Given the description of an element on the screen output the (x, y) to click on. 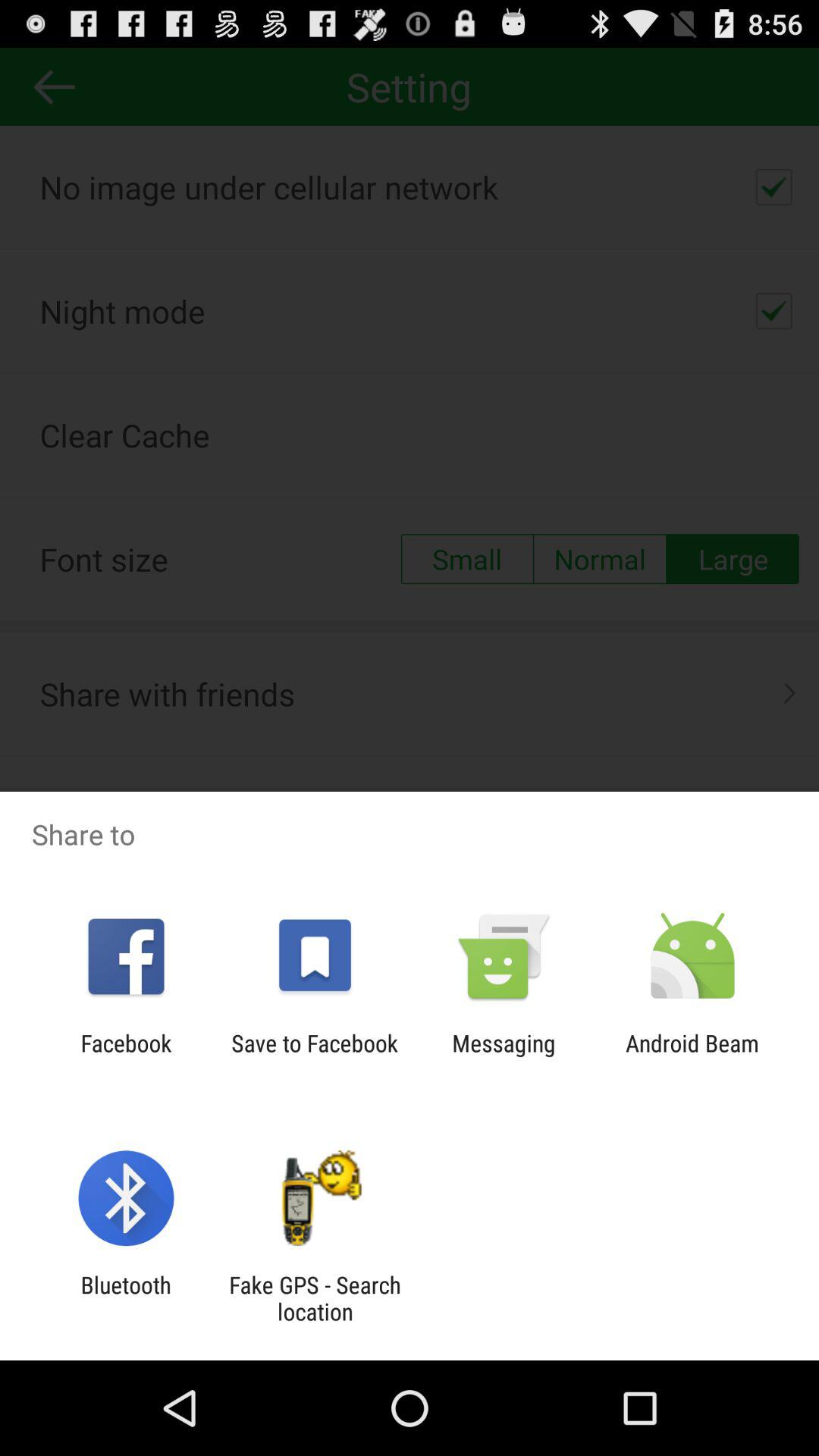
turn on the icon next to messaging app (314, 1056)
